Given the description of an element on the screen output the (x, y) to click on. 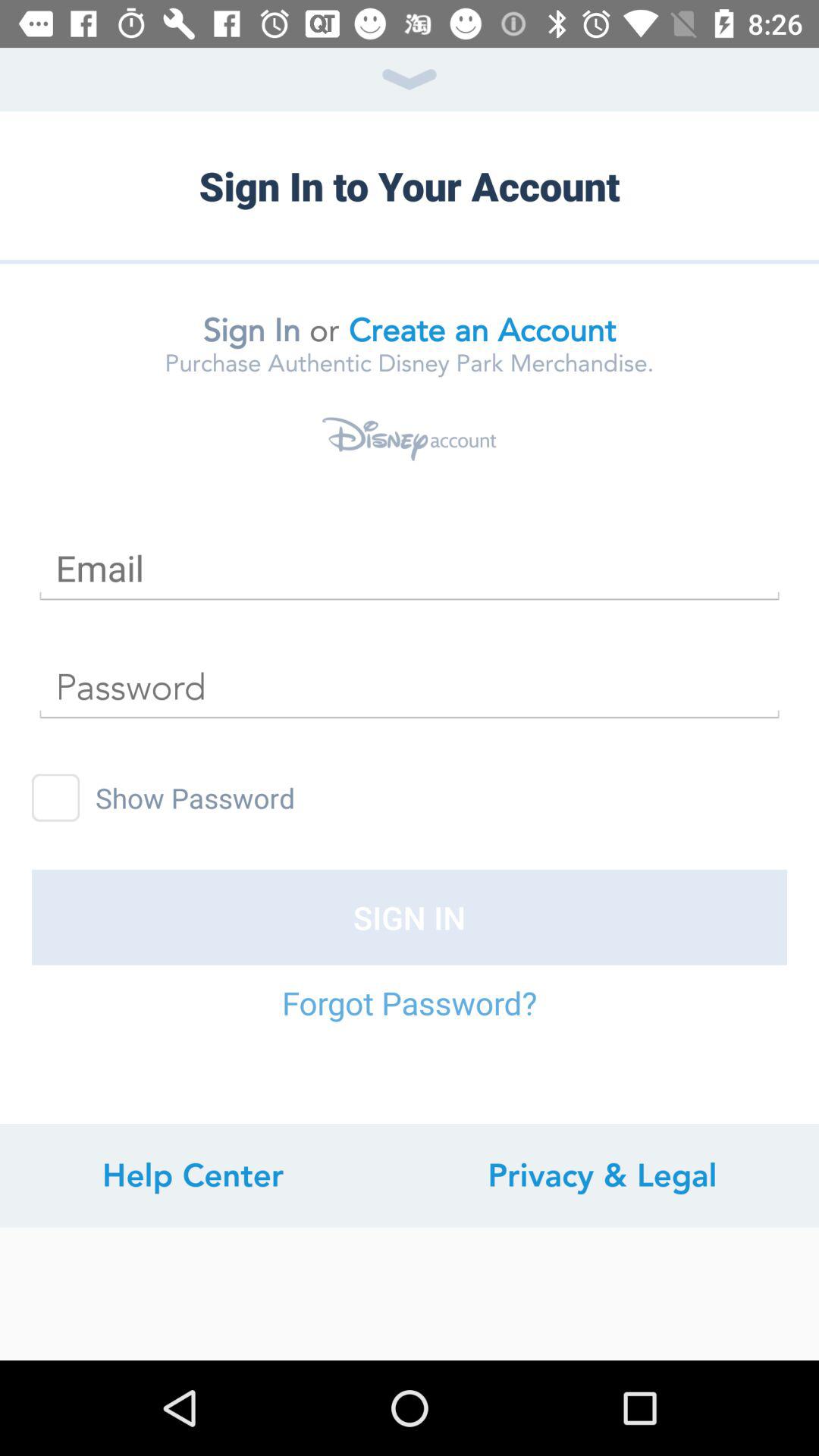
choose item to the left of show password item (55, 797)
